Given the description of an element on the screen output the (x, y) to click on. 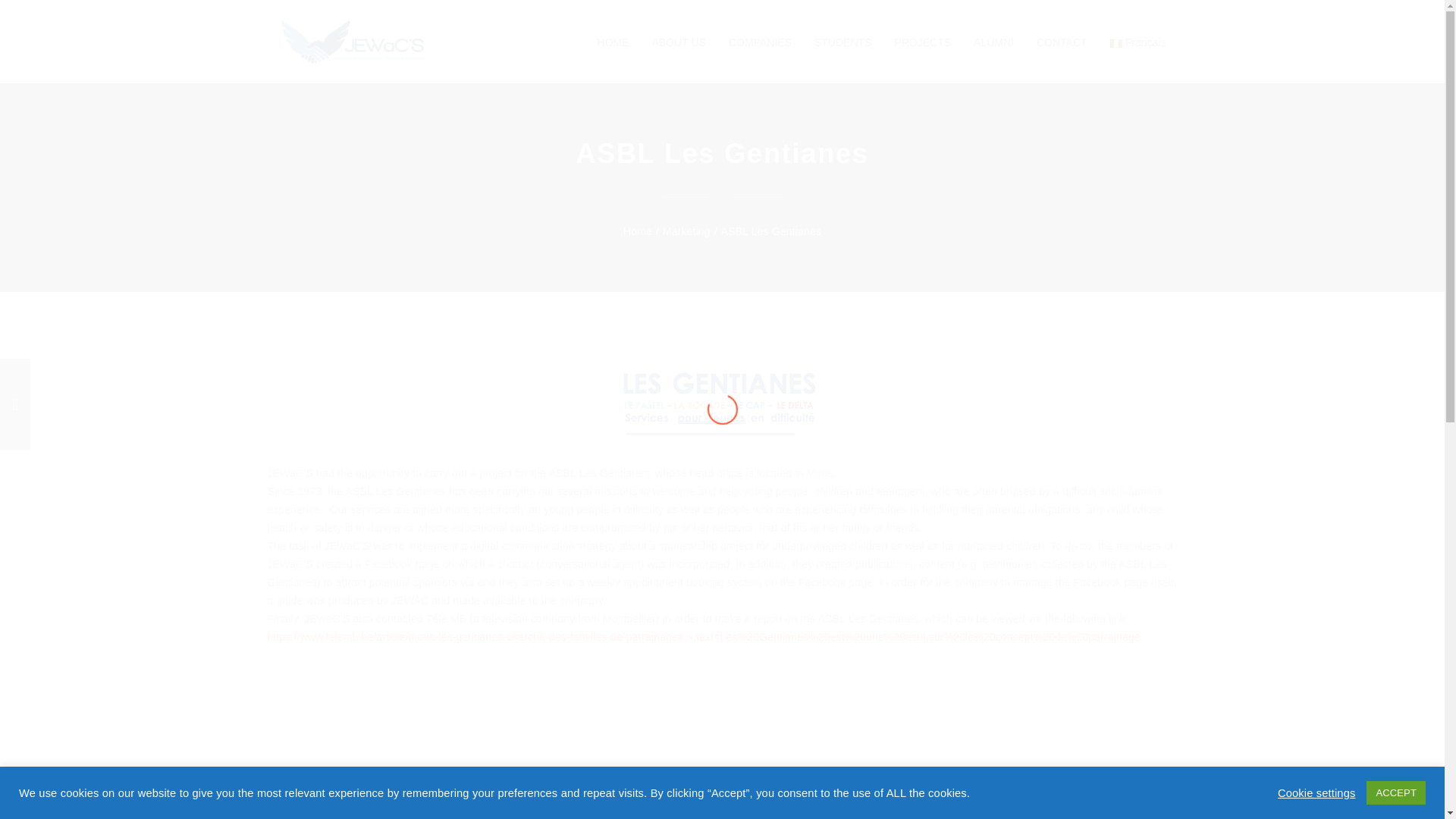
Home (637, 231)
COMPANIES (760, 42)
CLOSE (721, 784)
ALUMNI (993, 42)
PROJECTS (922, 42)
HOME (613, 42)
CONTACT (1062, 42)
Marketing (686, 231)
ACCEPT (1396, 792)
Cookie settings (1316, 792)
STUDENTS (842, 42)
ABOUT US (678, 42)
